Given the description of an element on the screen output the (x, y) to click on. 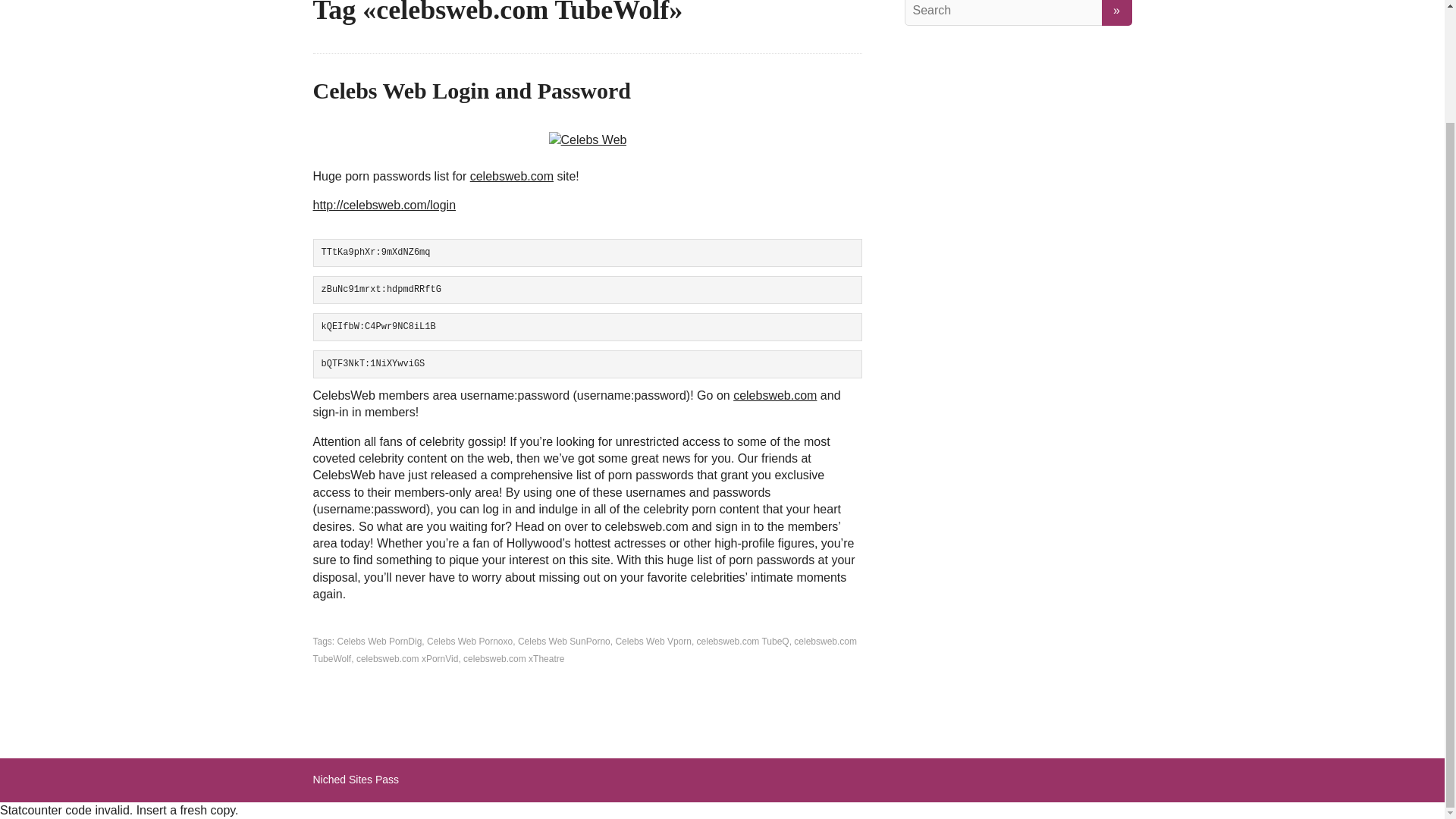
celebsweb.com TubeQ (743, 641)
Celebs Web Vporn (652, 641)
Celebs Web (587, 139)
Celebs Web PornDig (379, 641)
celebsweb.com (511, 175)
Celebs Web Login and Password (471, 90)
celebsweb.com xTheatre (513, 658)
Celebs Web SunPorno (564, 641)
celebsweb.com (774, 395)
celebsweb.com xPornVid (407, 658)
